Given the description of an element on the screen output the (x, y) to click on. 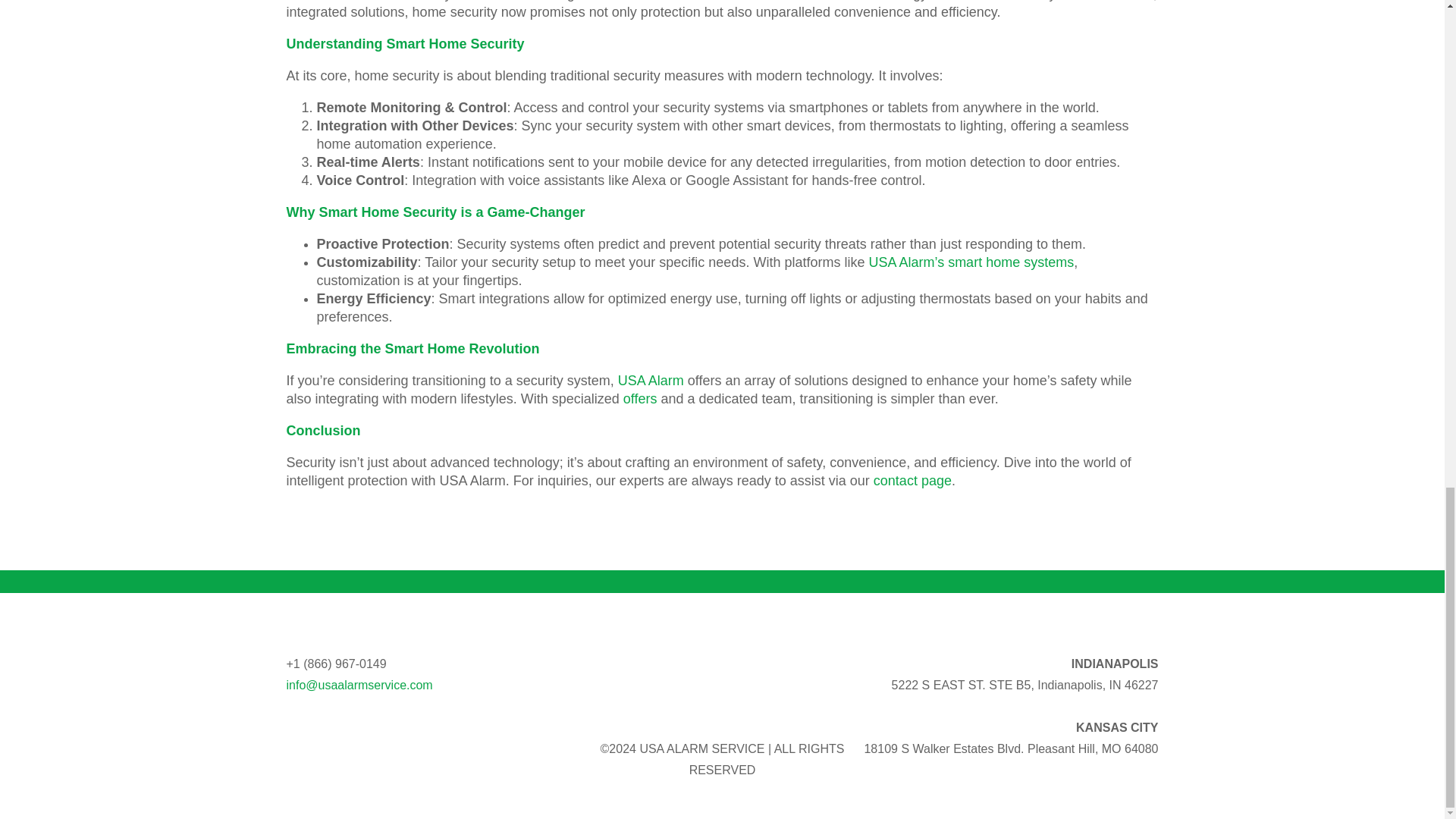
contact page (912, 480)
offers (640, 398)
USA Alarm (650, 380)
